Given the description of an element on the screen output the (x, y) to click on. 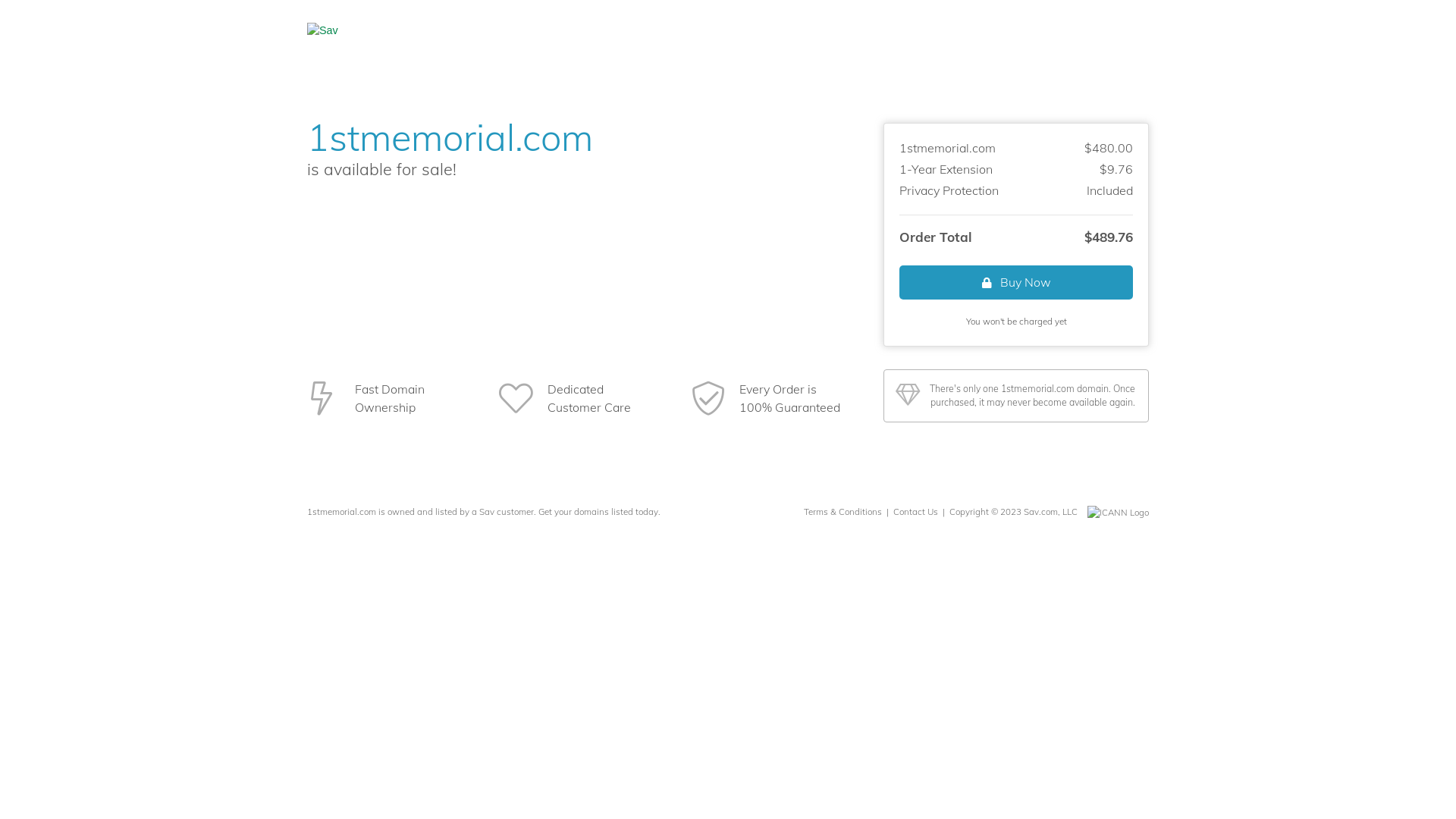
Terms & Conditions Element type: text (842, 511)
Contact Us Element type: text (915, 511)
Get your domains listed today. Element type: text (599, 511)
Buy Now Element type: text (1015, 282)
